Given the description of an element on the screen output the (x, y) to click on. 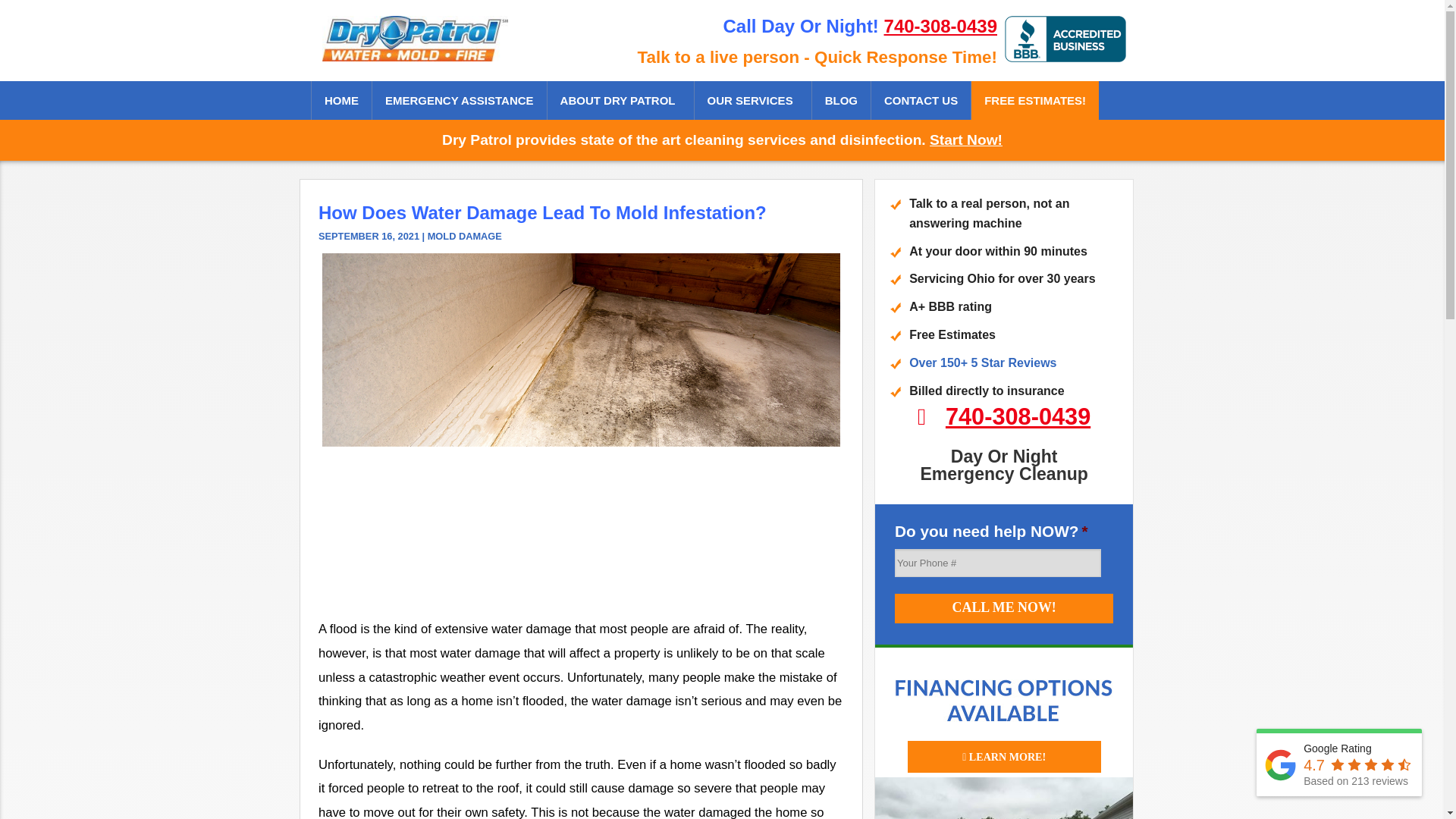
HOME (341, 100)
OUR SERVICES (752, 100)
Water Damage (752, 138)
Hoarding Cleanup (752, 371)
Mold Removal (752, 177)
FREE ESTIMATES! (1035, 100)
Call Me Now! (1004, 608)
Healthy Home Inspection (752, 525)
Insurance Liaison (752, 564)
740-308-0439 (1017, 416)
